Given the description of an element on the screen output the (x, y) to click on. 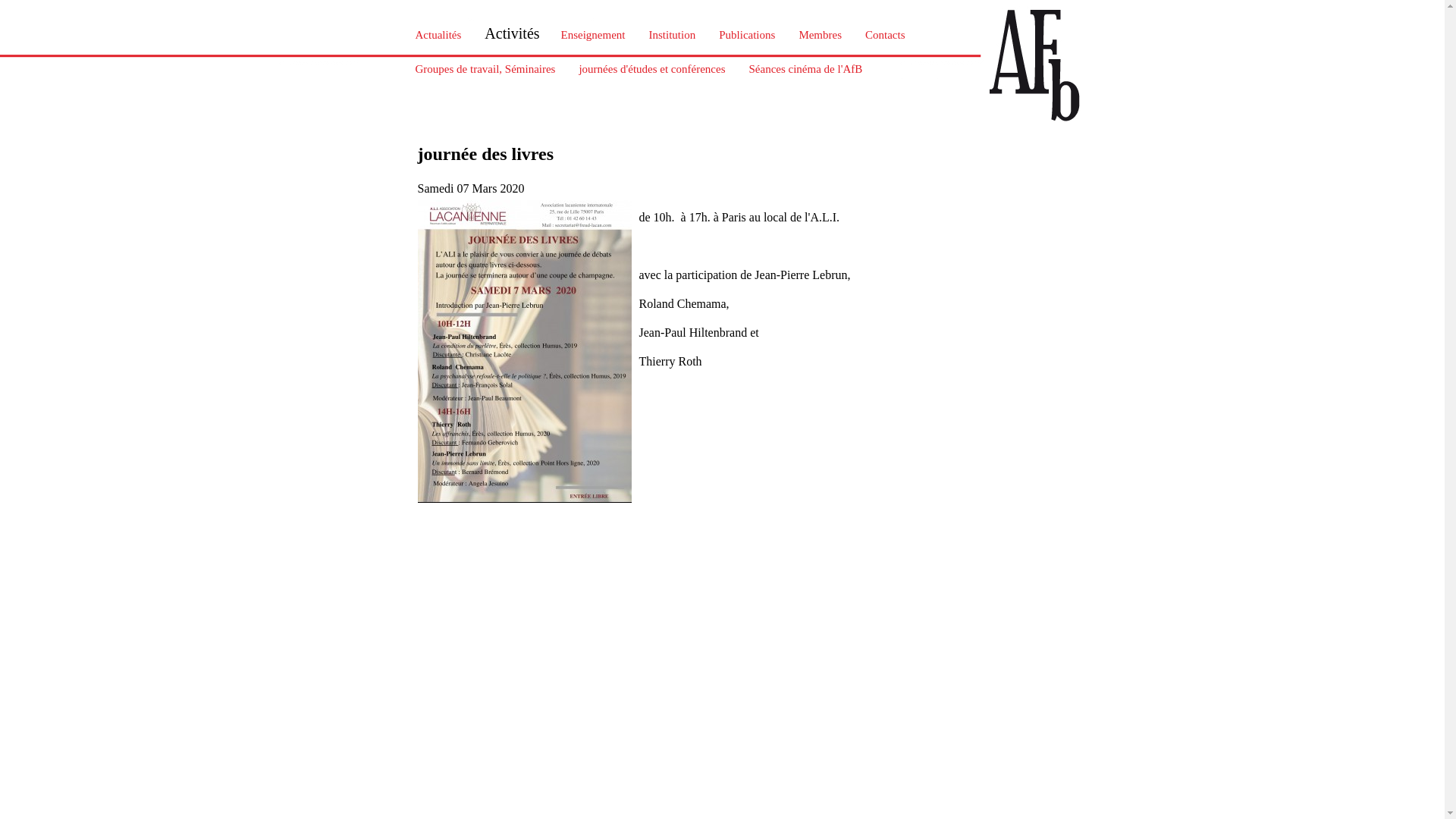
Enseignement Element type: text (593, 34)
Publications Element type: text (746, 34)
Membres Element type: text (819, 34)
Contacts Element type: text (885, 34)
Institution Element type: text (672, 34)
